Given the description of an element on the screen output the (x, y) to click on. 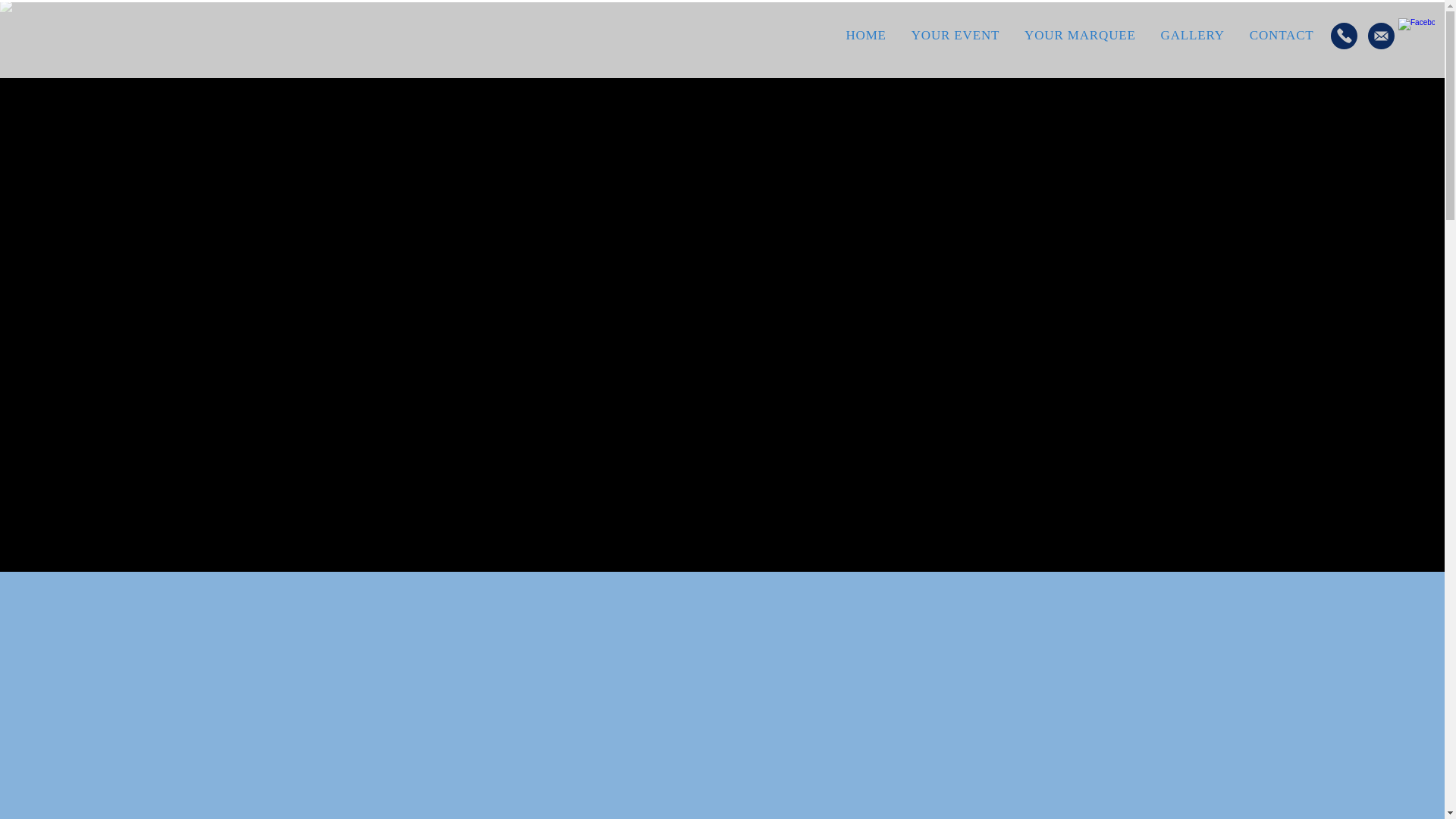
YOUR EVENT (955, 35)
CONTACT (1281, 35)
HOME (865, 35)
GALLERY (1192, 35)
